Given the description of an element on the screen output the (x, y) to click on. 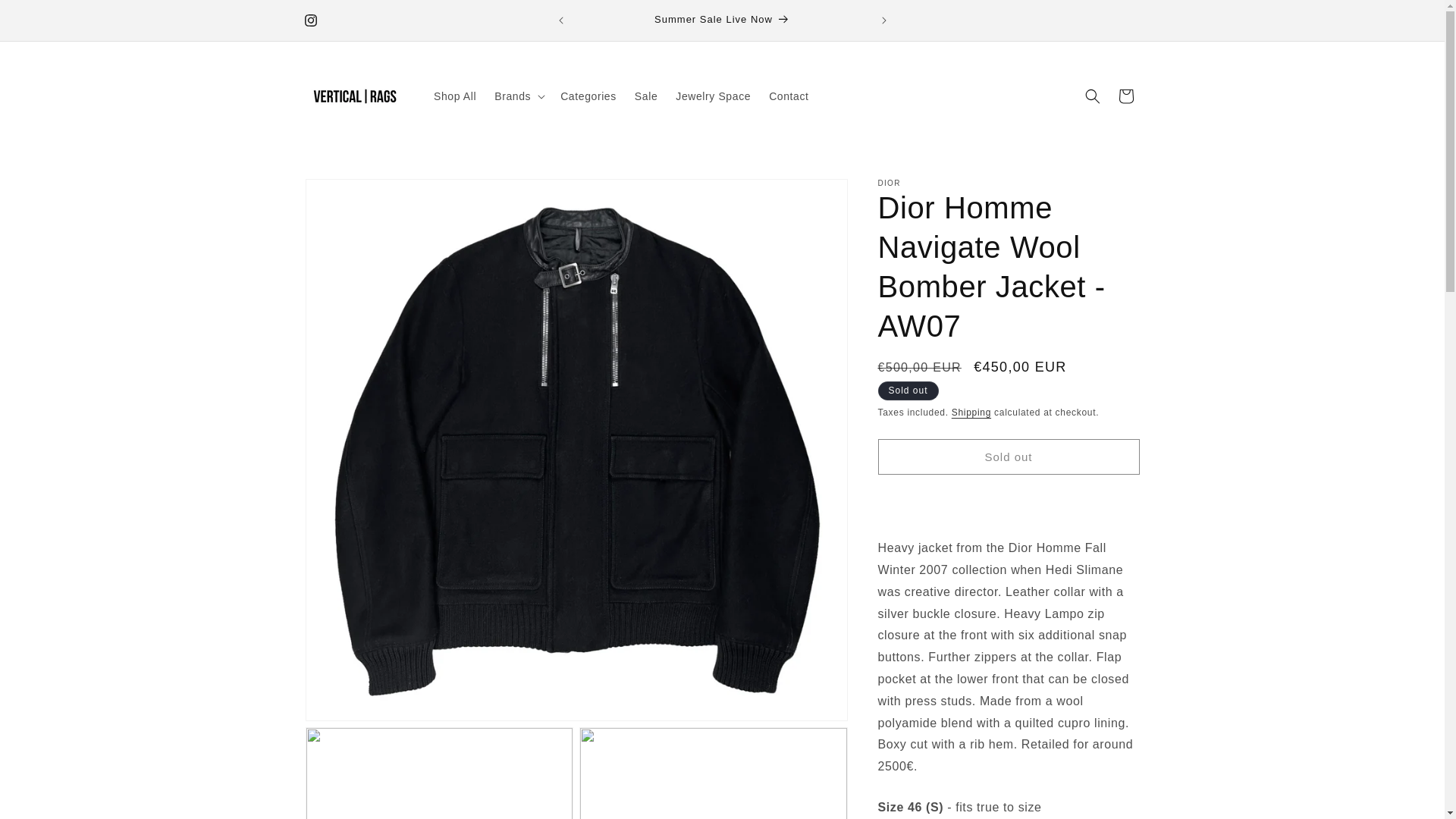
Skip to content (45, 17)
Shop All (454, 96)
Instagram (309, 20)
Summer Sale Live Now (722, 20)
